Given the description of an element on the screen output the (x, y) to click on. 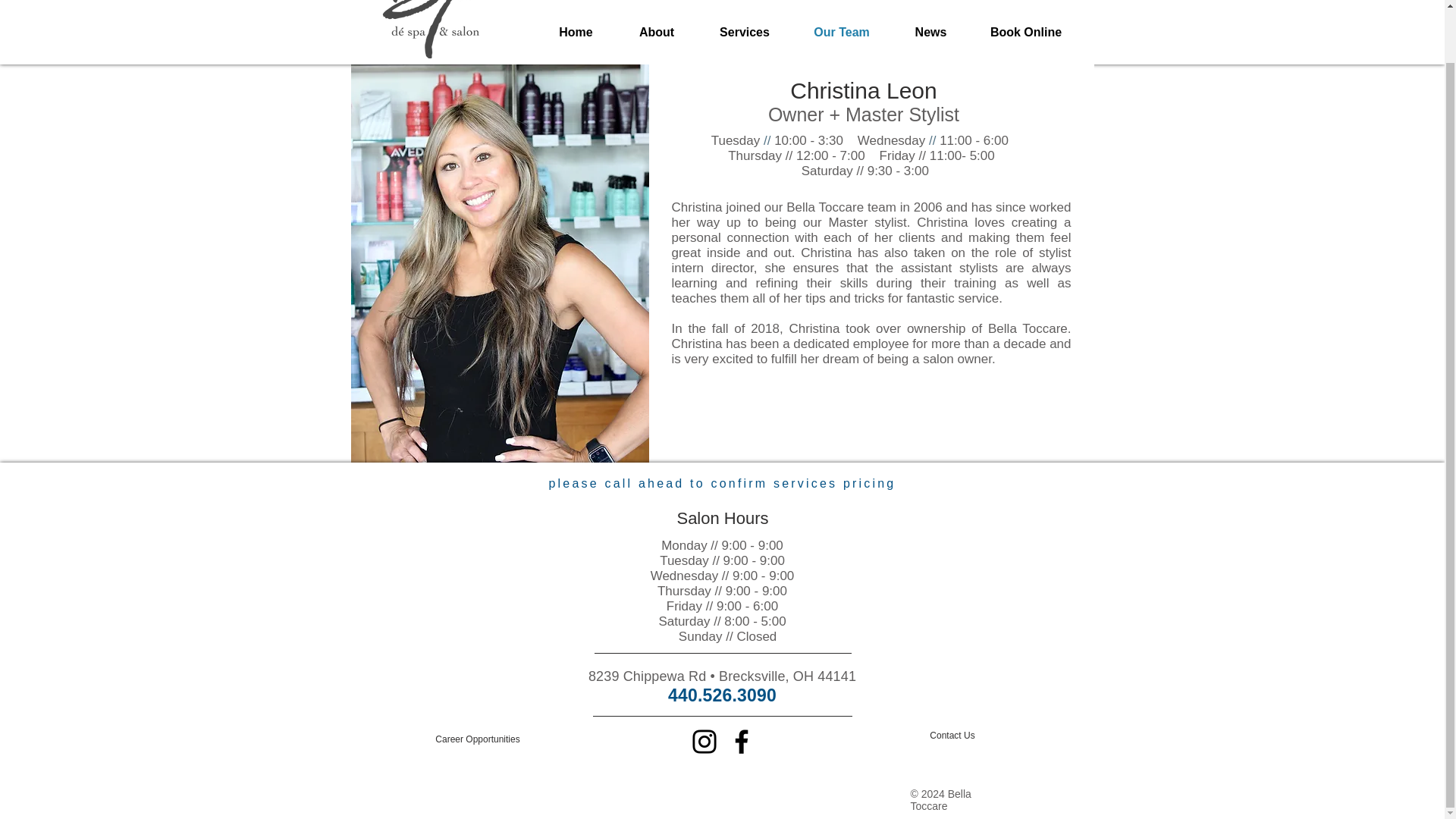
Career Opportunities (477, 739)
News (931, 32)
440.526.3090 (722, 695)
Our Team (841, 32)
 please call ahead to confirm services pricing  (722, 482)
Home (575, 32)
Book Online (1026, 32)
Contact Us (952, 736)
